Given the description of an element on the screen output the (x, y) to click on. 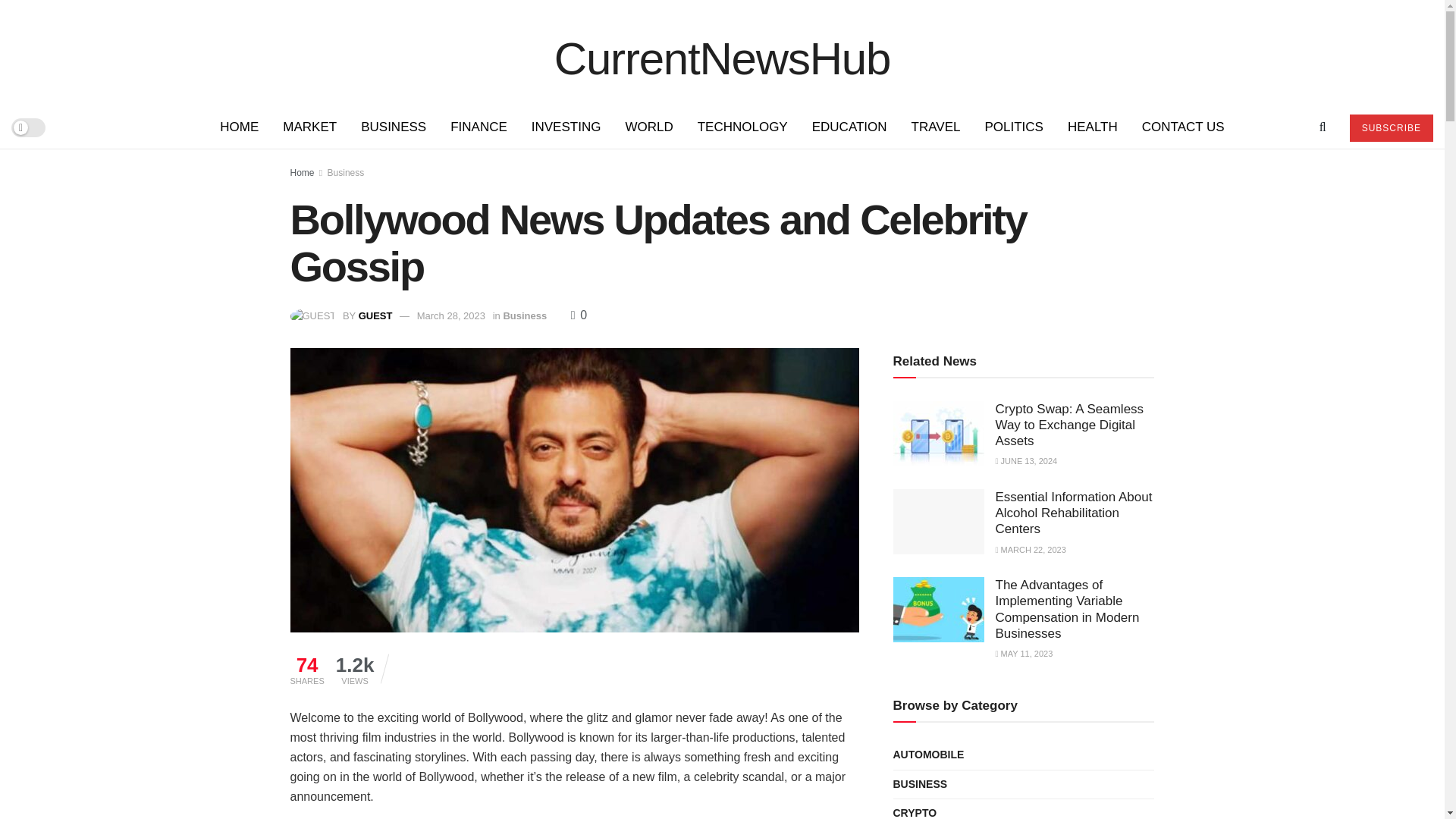
TECHNOLOGY (742, 127)
CONTACT US (1182, 127)
WORLD (648, 127)
CurrentNewsHub (721, 52)
INVESTING (565, 127)
Business (524, 315)
Home (301, 172)
GUEST (375, 315)
SUBSCRIBE (1390, 127)
EDUCATION (849, 127)
